Given the description of an element on the screen output the (x, y) to click on. 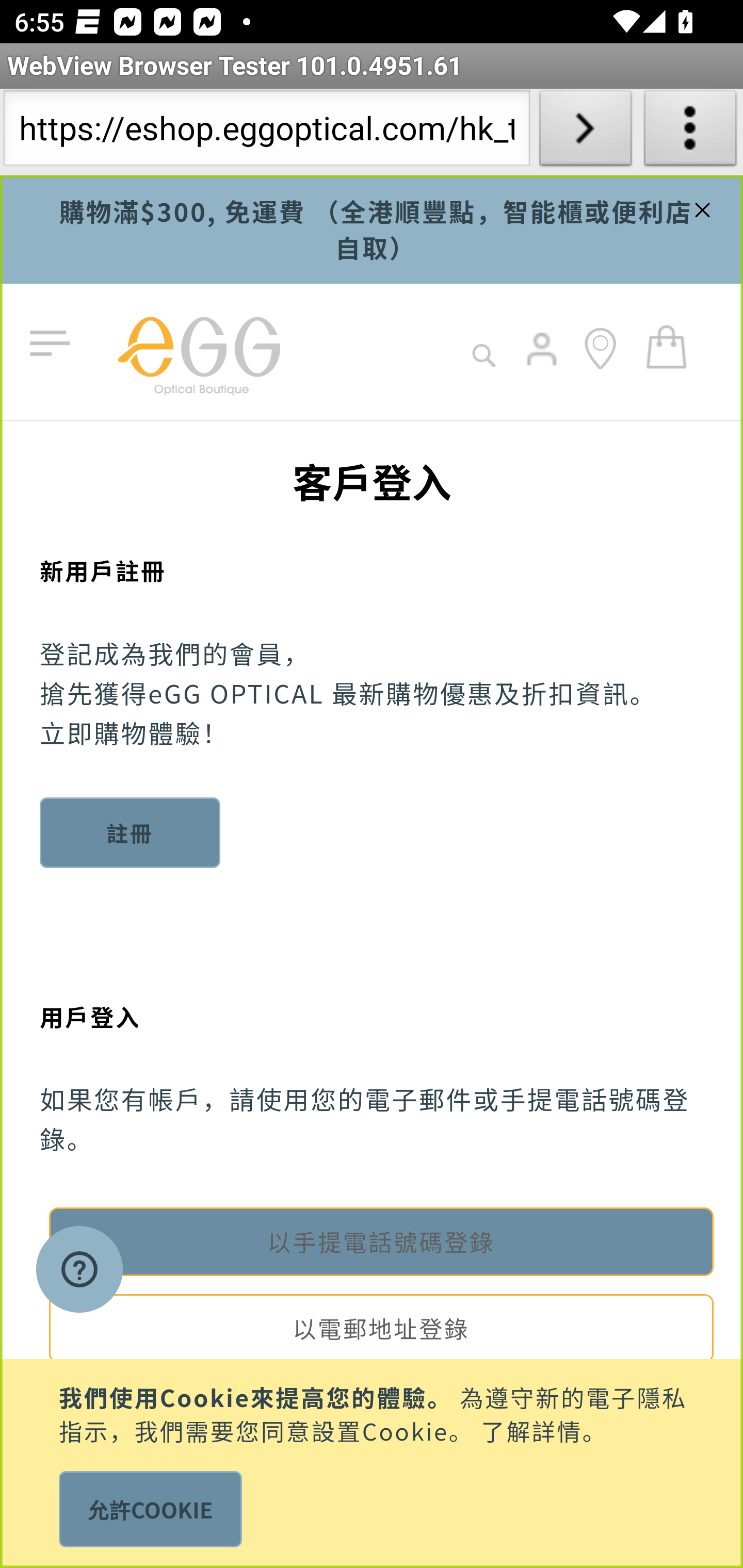
Load URL (585, 132)
About WebView (690, 132)
 (699, 206)
store logo eGG 網上商店 (198, 351)
切換導航 (54, 343)
我的購物車 (666, 345)
login (543, 362)
註冊 (130, 832)
Opens a widget where you can find more information (79, 1270)
了解詳情 (531, 1429)
允許COOKIE (149, 1509)
